Given the description of an element on the screen output the (x, y) to click on. 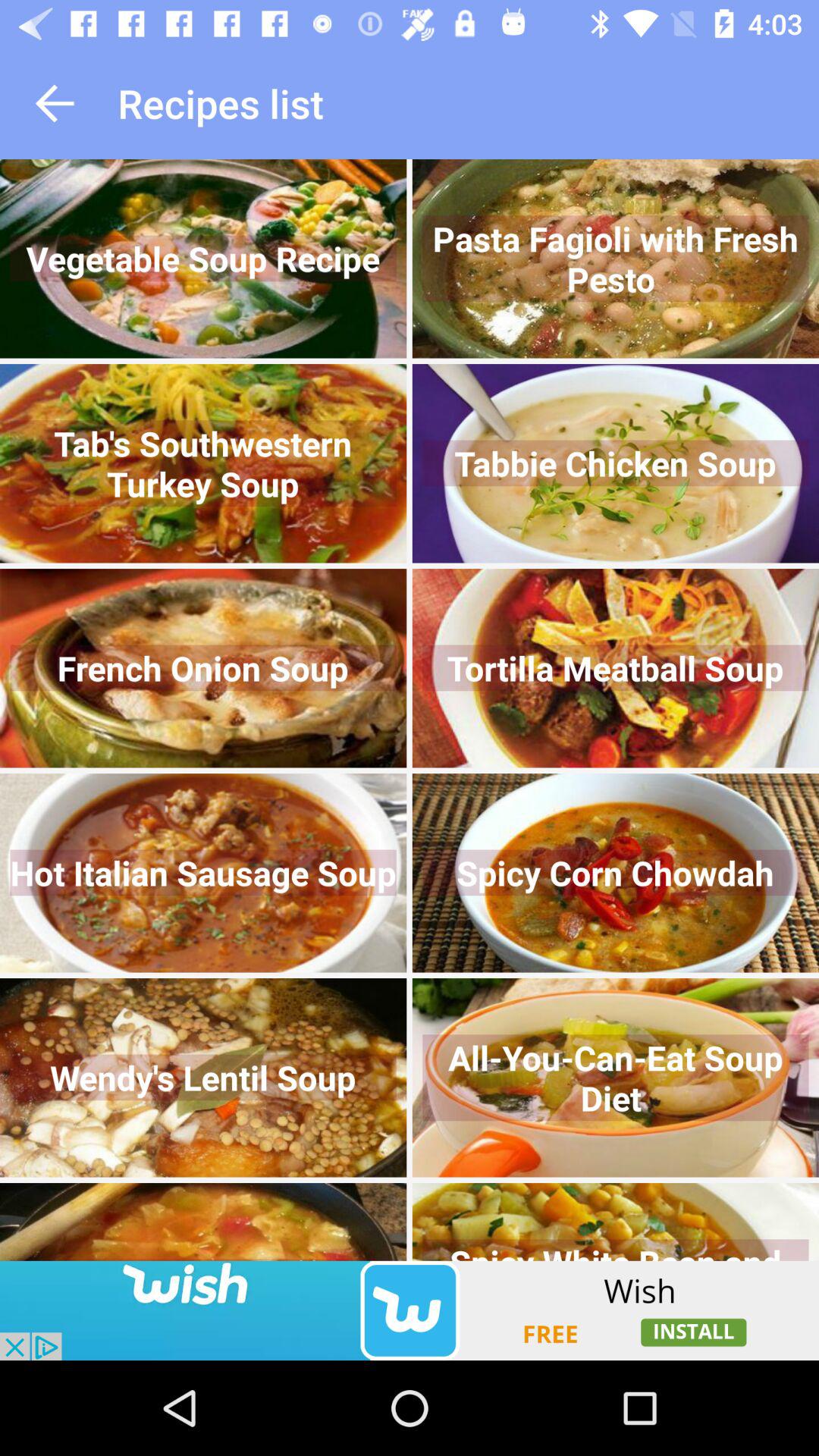
go back (54, 103)
